Given the description of an element on the screen output the (x, y) to click on. 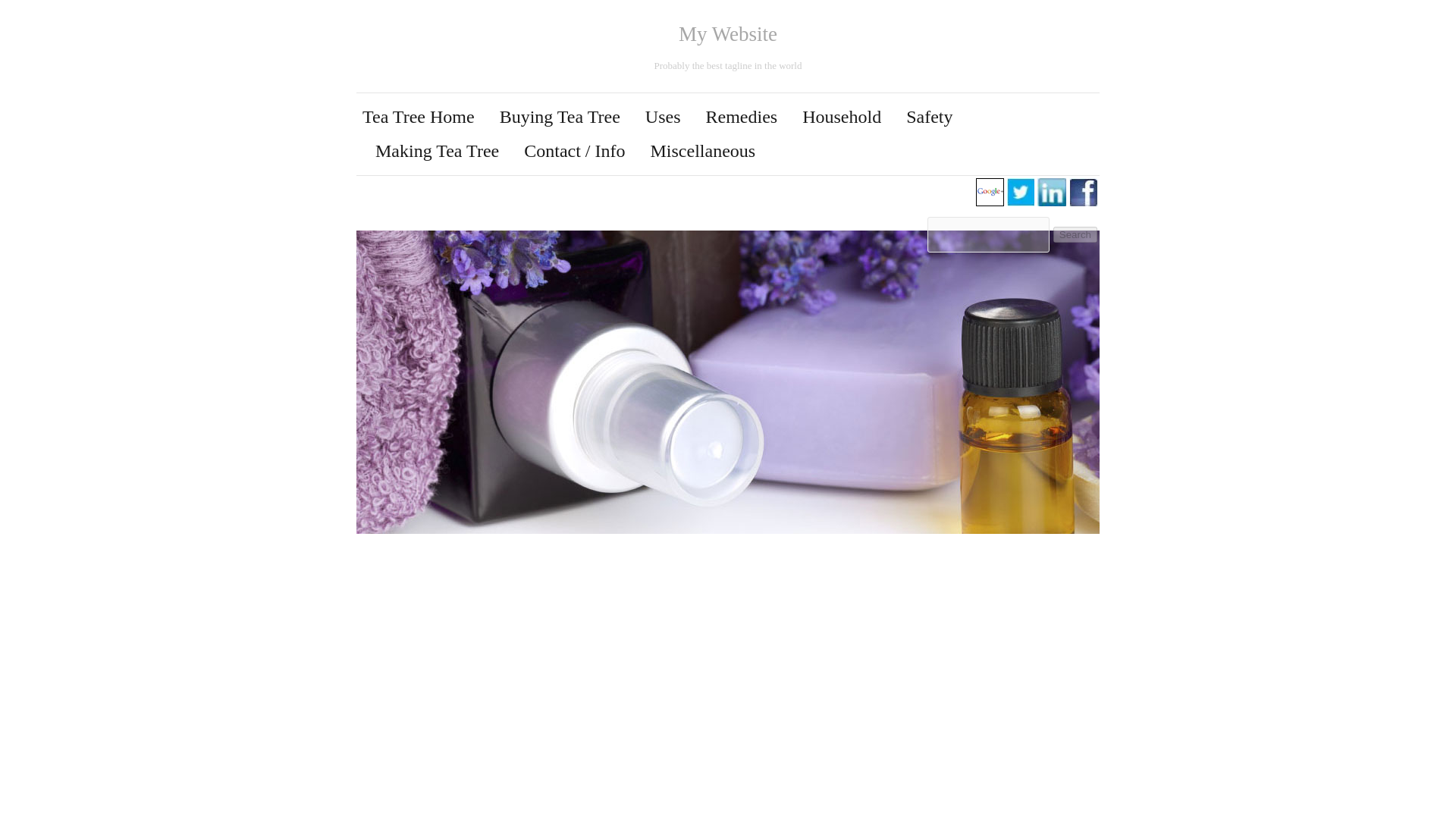
Tea Tree Home (418, 116)
Search (1074, 234)
My Website (727, 33)
Search (1074, 234)
